Given the description of an element on the screen output the (x, y) to click on. 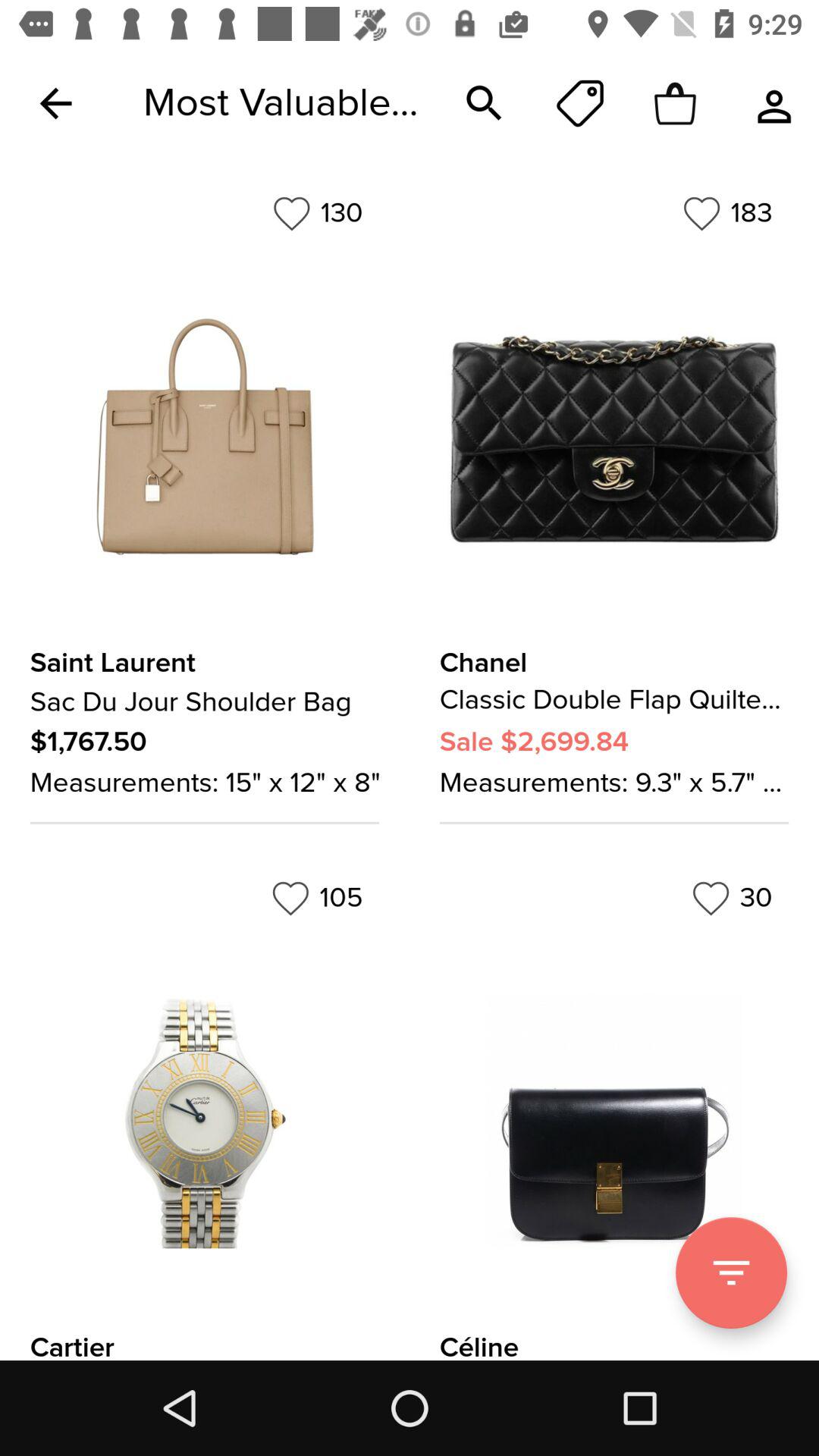
launch the icon to the right of the 105 item (731, 898)
